Given the description of an element on the screen output the (x, y) to click on. 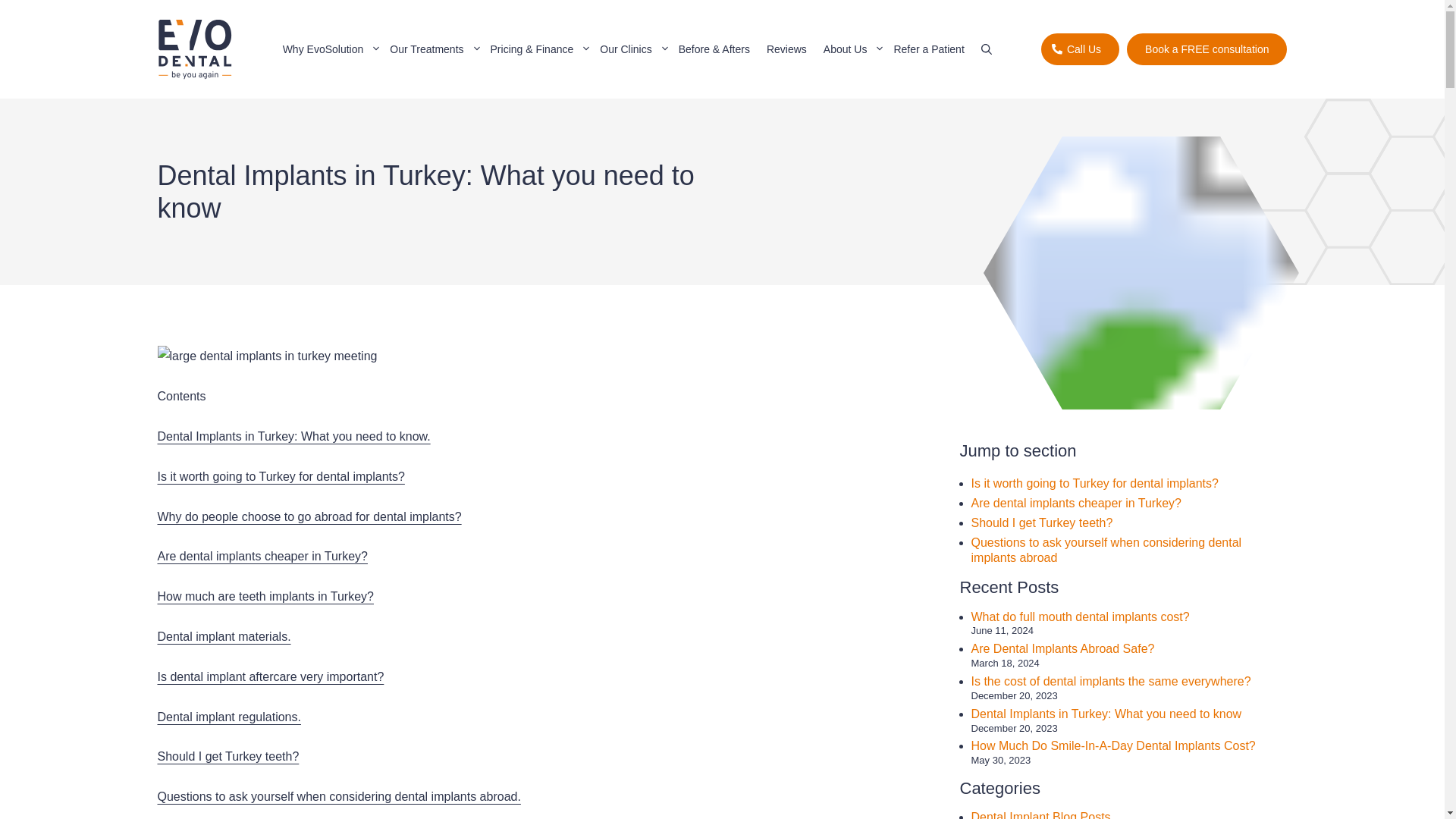
Call Us (1080, 49)
Book a FREE consultation (1206, 49)
Our Clinics (630, 49)
Why EvoSolution (328, 49)
Our Treatments (431, 49)
